Given the description of an element on the screen output the (x, y) to click on. 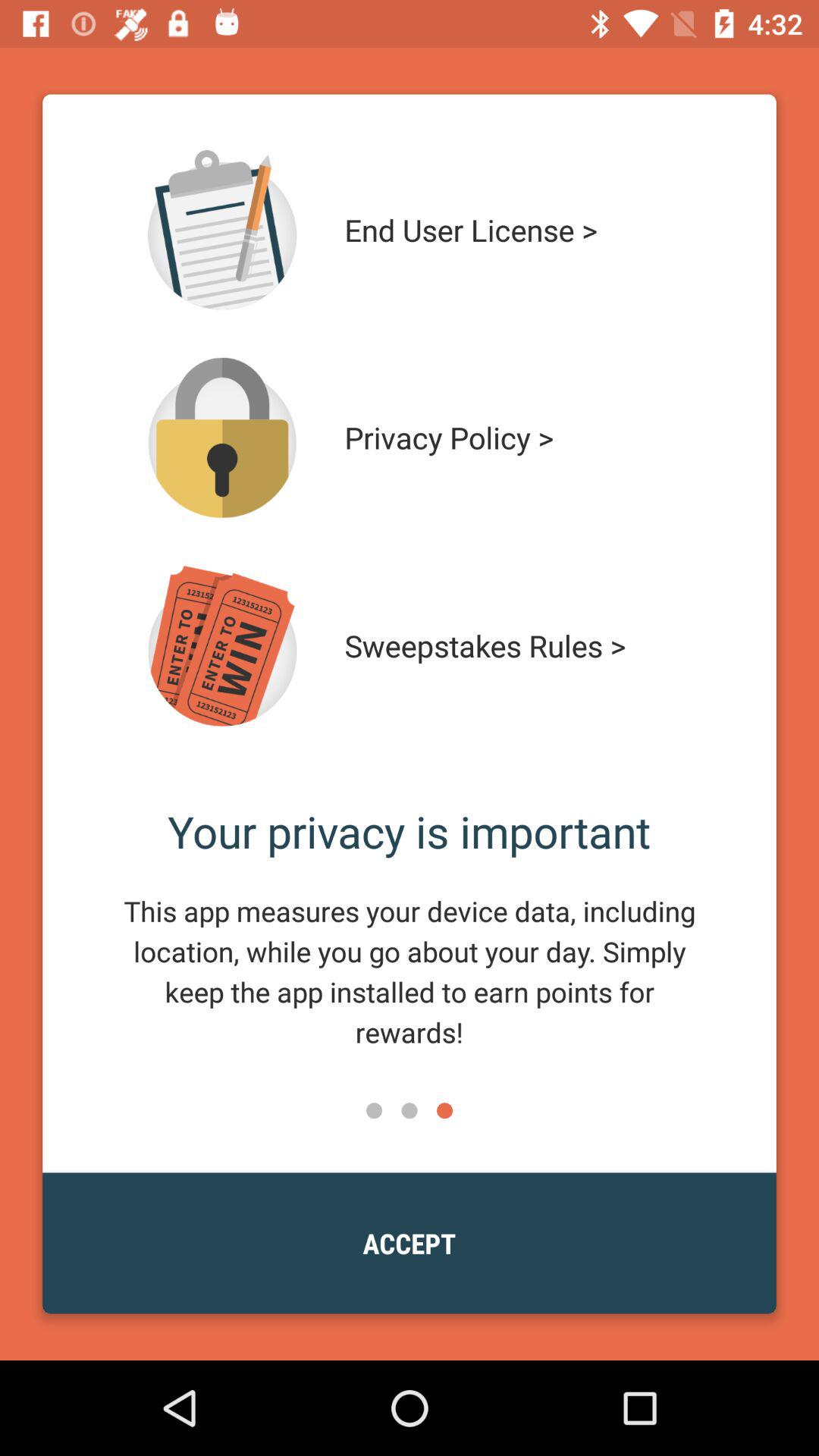
click end user license > item (514, 229)
